Given the description of an element on the screen output the (x, y) to click on. 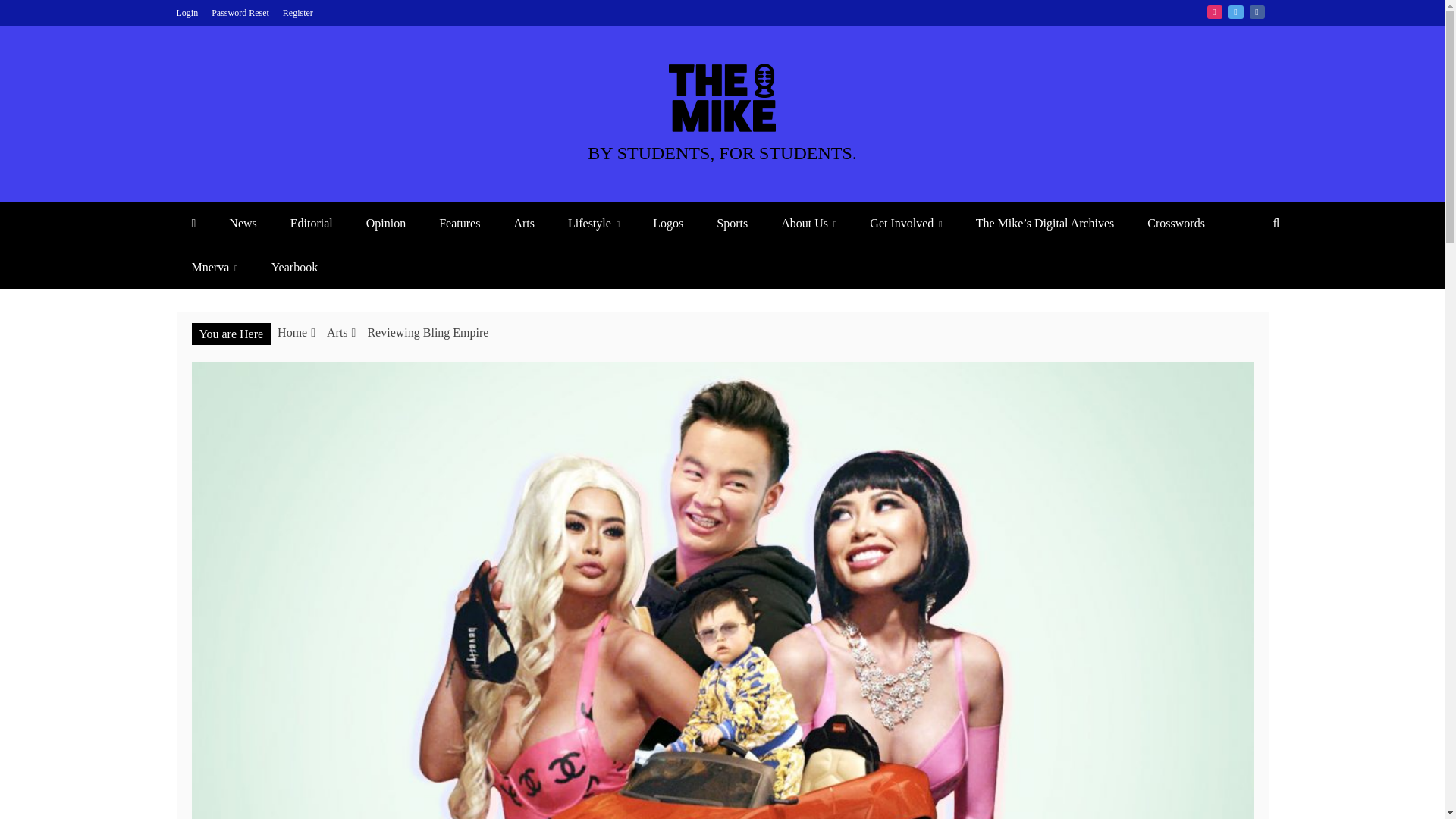
Arts (336, 332)
Mnerva (213, 267)
Register (297, 12)
Logos (667, 222)
News (242, 222)
Password Reset (240, 12)
Twitter (1235, 11)
Facebook (1257, 11)
Sports (731, 222)
Arts (523, 222)
Editorial (311, 222)
Instagram (1215, 11)
Opinion (385, 222)
Home (292, 332)
Yearbook (294, 267)
